Given the description of an element on the screen output the (x, y) to click on. 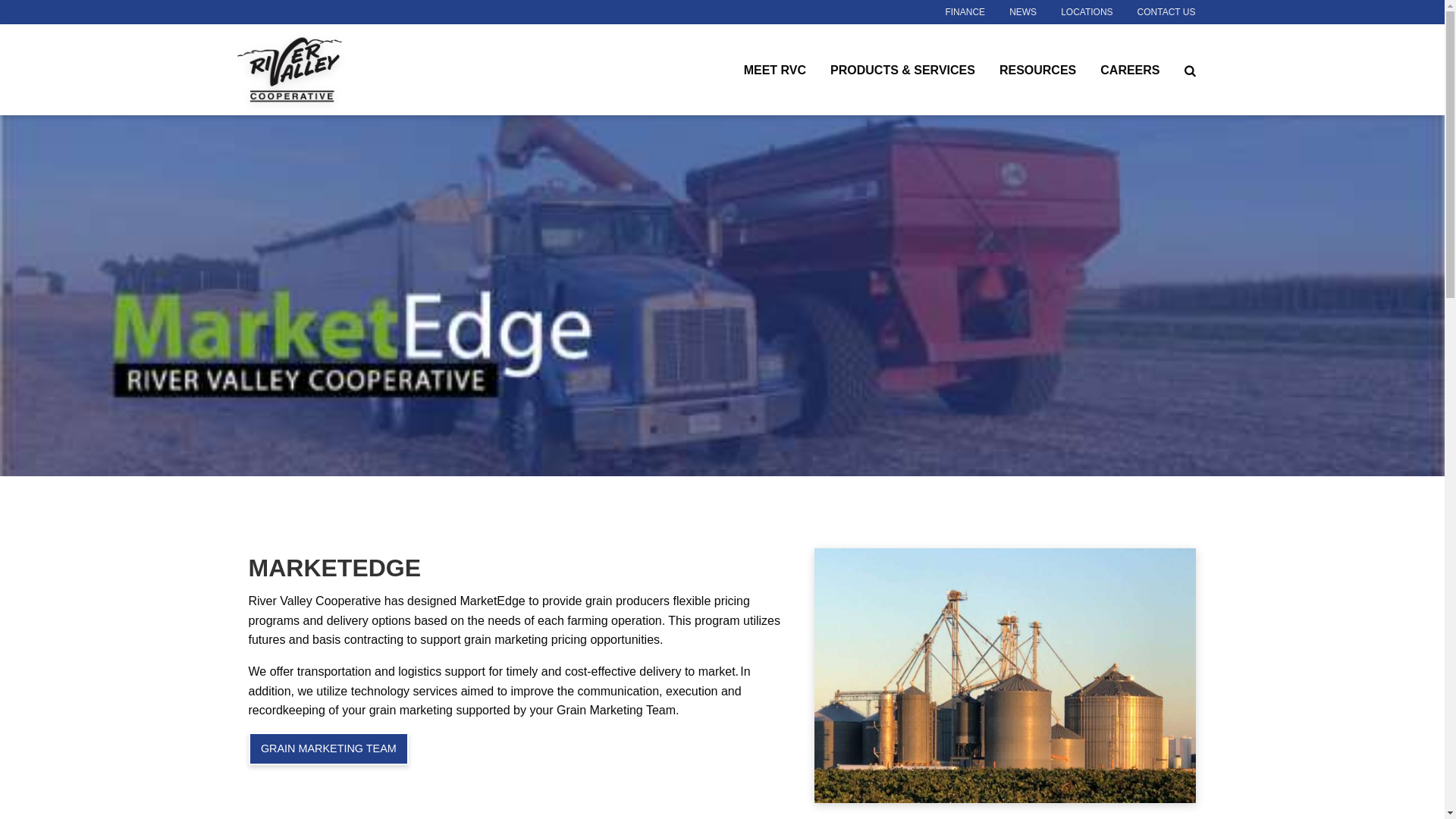
NEWS (1022, 11)
GRAIN MARKETING TEAM (328, 748)
River Valley (330, 69)
LOCATIONS (1086, 11)
MEET RVC (775, 69)
RESOURCES (1036, 69)
CONTACT US (1166, 11)
FINANCE (965, 11)
CAREERS (1129, 69)
